Given the description of an element on the screen output the (x, y) to click on. 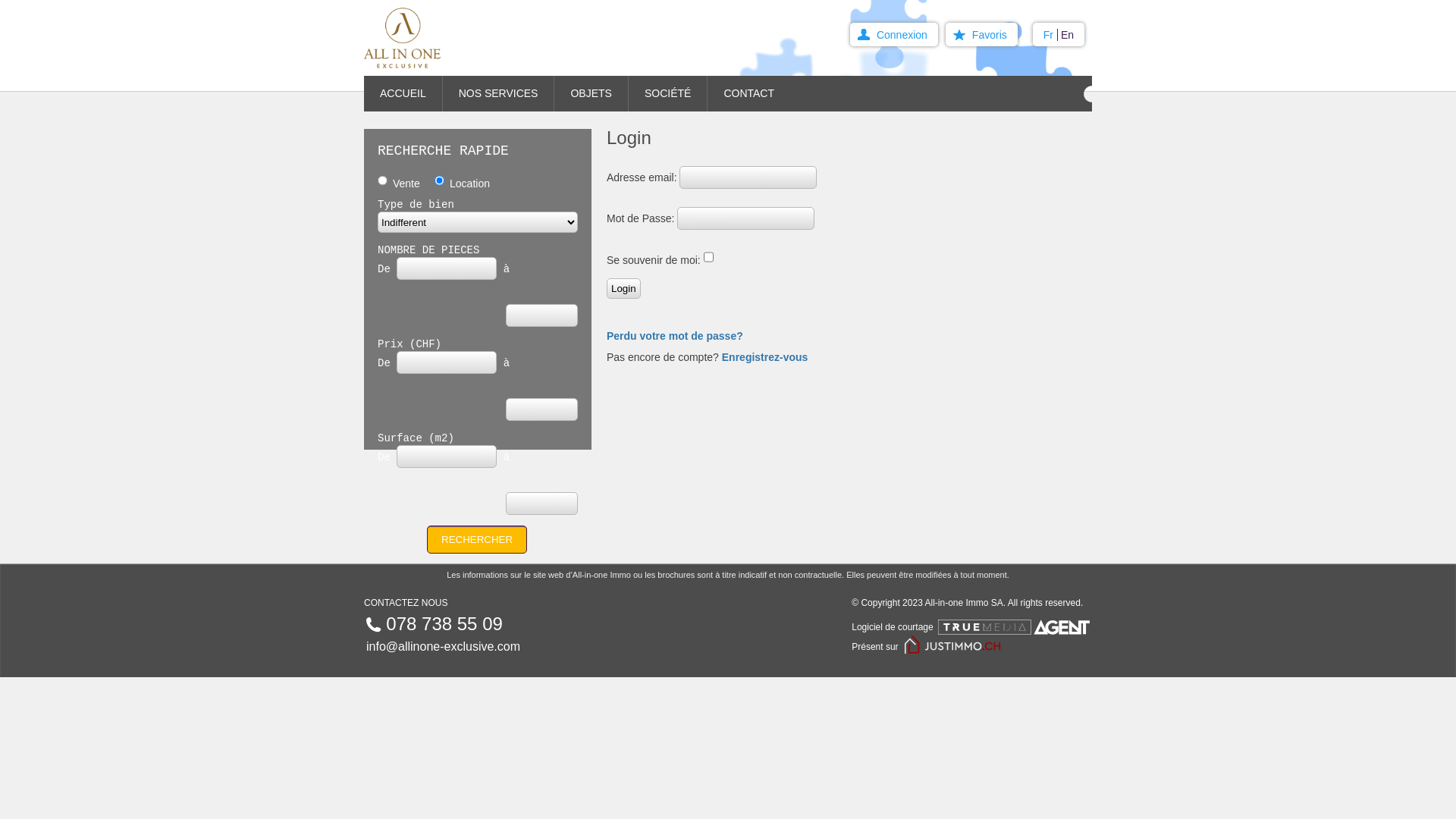
Perdu votre mot de passe? Element type: text (674, 335)
Fr Element type: text (1050, 34)
CONTACT Element type: text (755, 93)
NOS SERVICES Element type: text (498, 93)
Identifiant Element type: hover (747, 177)
Favoris Element type: text (981, 34)
En Element type: text (1066, 34)
Connexion Element type: text (894, 34)
Enregistrez-vous Element type: text (764, 357)
info@allinone-exclusive.com Element type: text (443, 646)
ACCUEIL Element type: text (403, 93)
Login Element type: text (623, 288)
RECHERCHER Element type: text (476, 539)
Login Element type: hover (623, 288)
Mot de Passe Element type: hover (745, 218)
OBJETS Element type: text (590, 93)
Se souvenir de moi Element type: hover (708, 256)
